Given the description of an element on the screen output the (x, y) to click on. 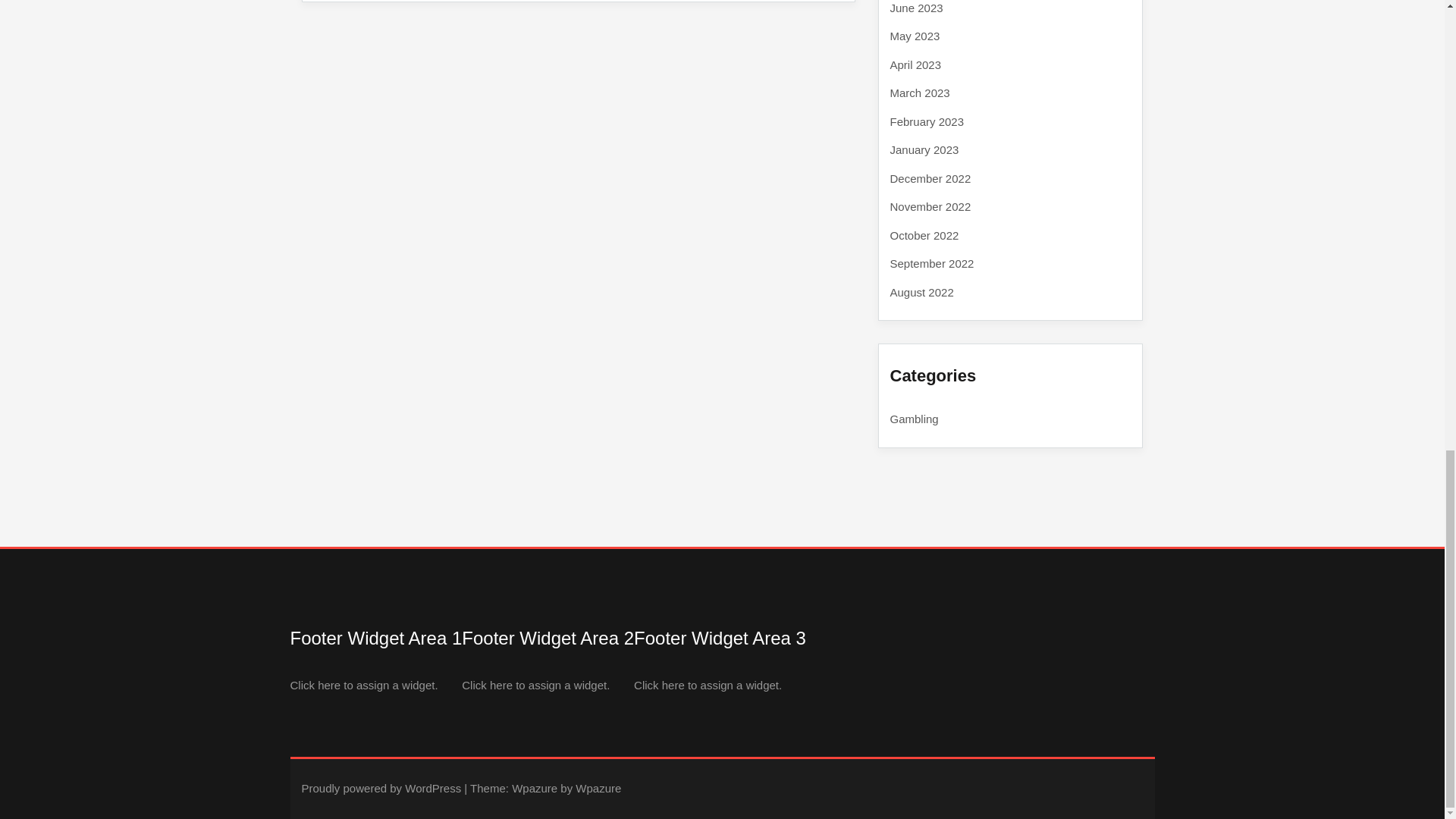
October 2022 (924, 235)
February 2023 (926, 121)
August 2022 (921, 291)
May 2023 (914, 35)
Click here to assign a widget. (535, 684)
November 2022 (930, 205)
Click here to assign a widget. (707, 684)
Proudly powered by WordPress (381, 788)
March 2023 (919, 92)
Wpazure (534, 788)
April 2023 (915, 63)
Click here to assign a widget. (363, 684)
December 2022 (930, 177)
September 2022 (931, 263)
June 2023 (916, 7)
